Given the description of an element on the screen output the (x, y) to click on. 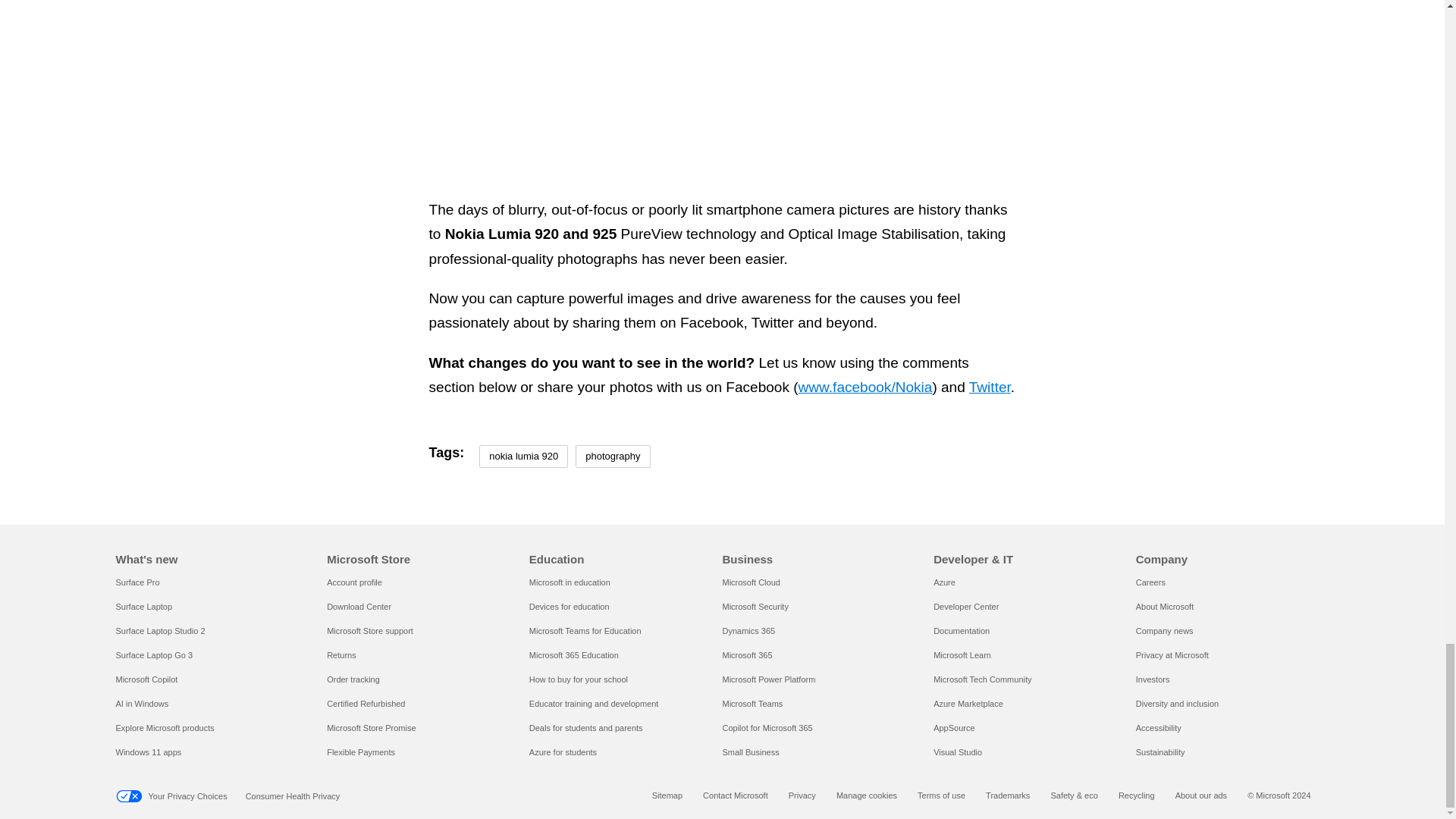
nokia lumia 920 Tag (523, 456)
photography Tag (612, 456)
